Given the description of an element on the screen output the (x, y) to click on. 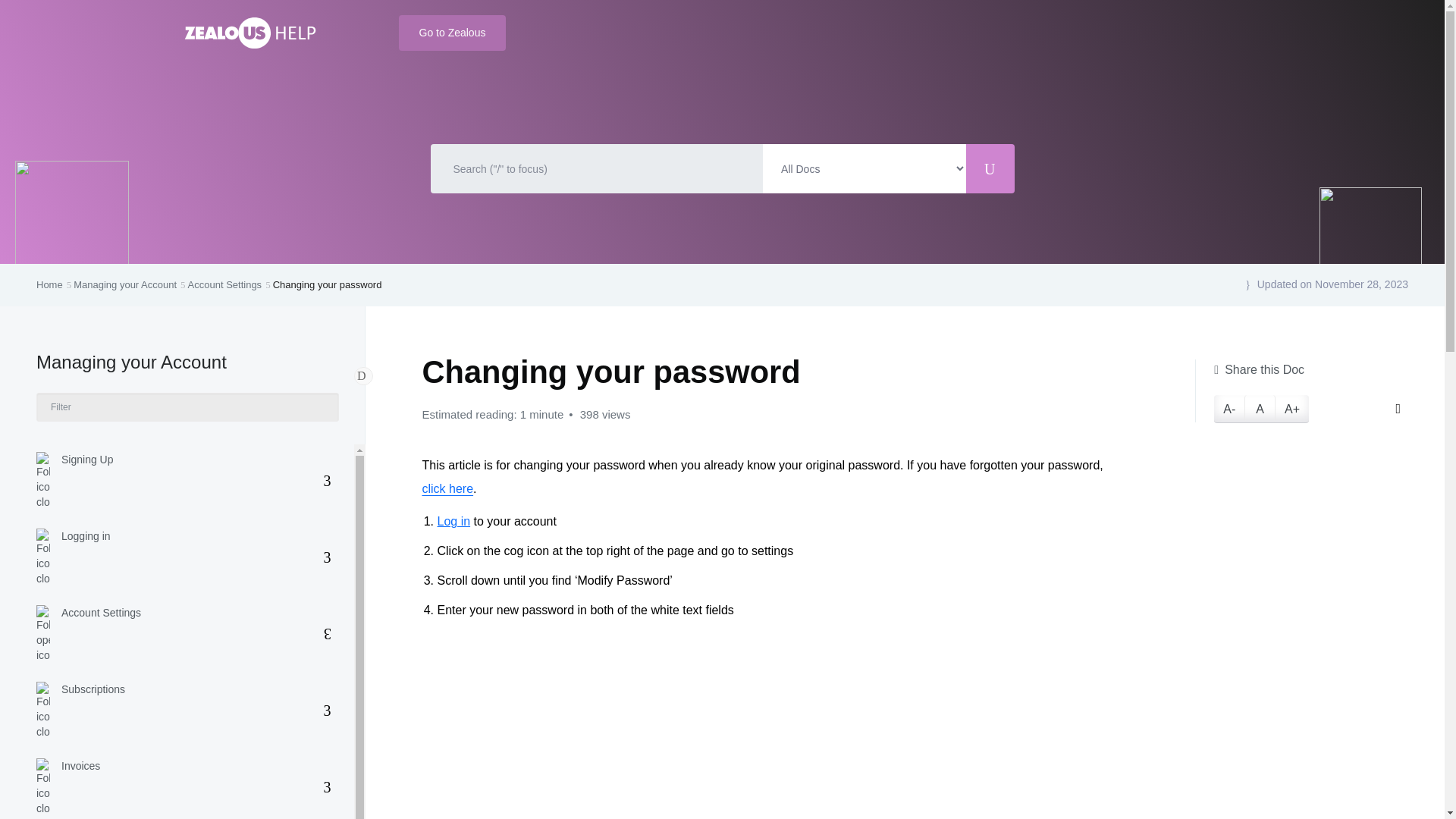
Decrease font size (1229, 408)
Go to Zealous (452, 33)
Hide category (362, 375)
Default font size (1259, 408)
Increase font size (1291, 408)
